Given the description of an element on the screen output the (x, y) to click on. 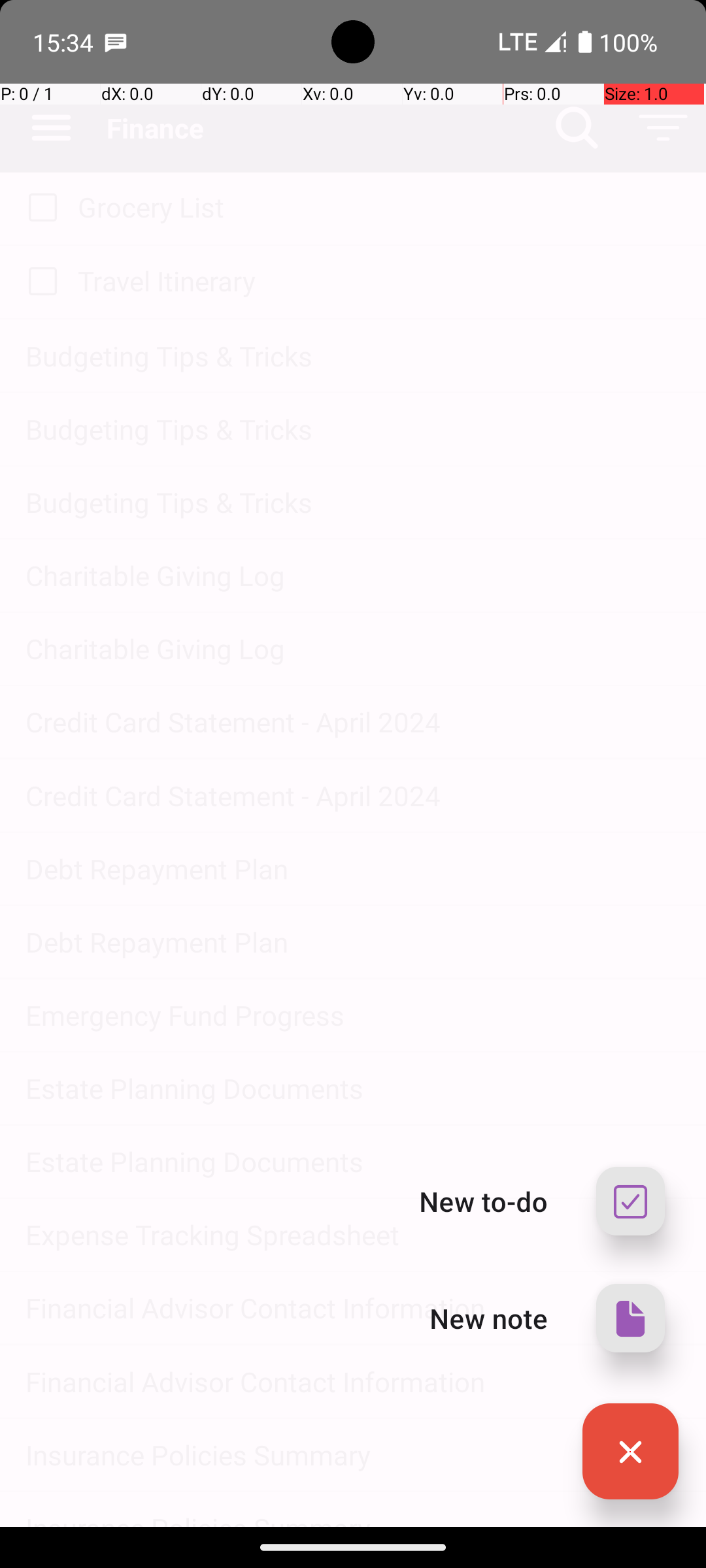
New to-do Element type: android.widget.Button (483, 1201)
New note Element type: android.widget.Button (488, 1317)
Add new, expanded Element type: android.widget.Button (630, 1451)
 Element type: android.widget.TextView (630, 1317)
 Element type: android.widget.TextView (630, 1450)
to-do: Grocery List Element type: android.widget.CheckBox (38, 208)
Grocery List Element type: android.widget.TextView (378, 206)
to-do: Travel Itinerary Element type: android.widget.CheckBox (38, 282)
Travel Itinerary Element type: android.widget.TextView (378, 280)
Charitable Giving Log Element type: android.widget.TextView (352, 574)
Credit Card Statement - April 2024 Element type: android.widget.TextView (352, 721)
Debt Repayment Plan Element type: android.widget.TextView (352, 868)
Emergency Fund Progress Element type: android.widget.TextView (352, 1014)
Estate Planning Documents Element type: android.widget.TextView (352, 1087)
Expense Tracking Spreadsheet Element type: android.widget.TextView (352, 1234)
Insurance Policies Summary Element type: android.widget.TextView (352, 1454)
